Given the description of an element on the screen output the (x, y) to click on. 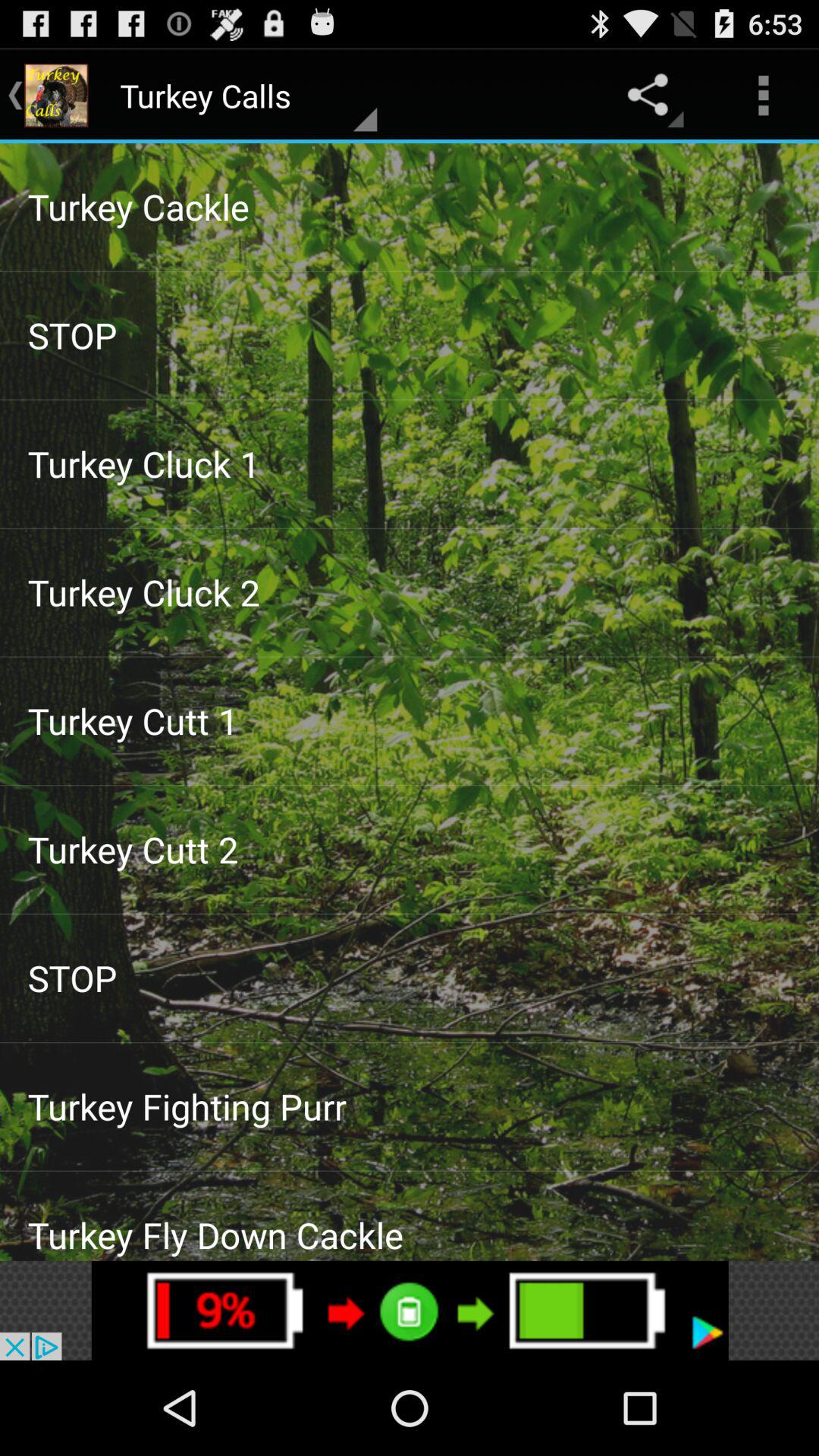
battery (409, 1310)
